Given the description of an element on the screen output the (x, y) to click on. 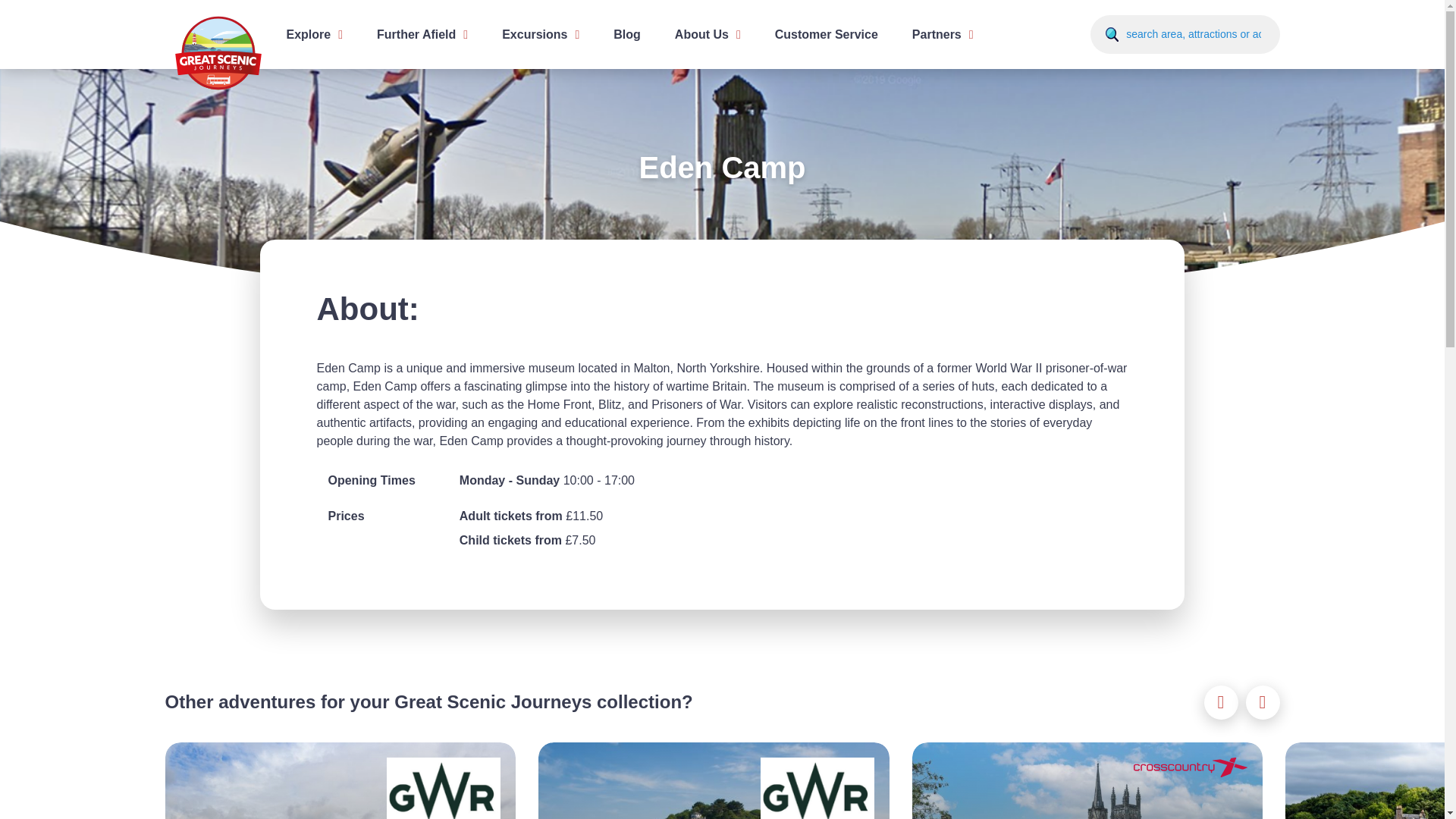
Explore (314, 33)
